Given the description of an element on the screen output the (x, y) to click on. 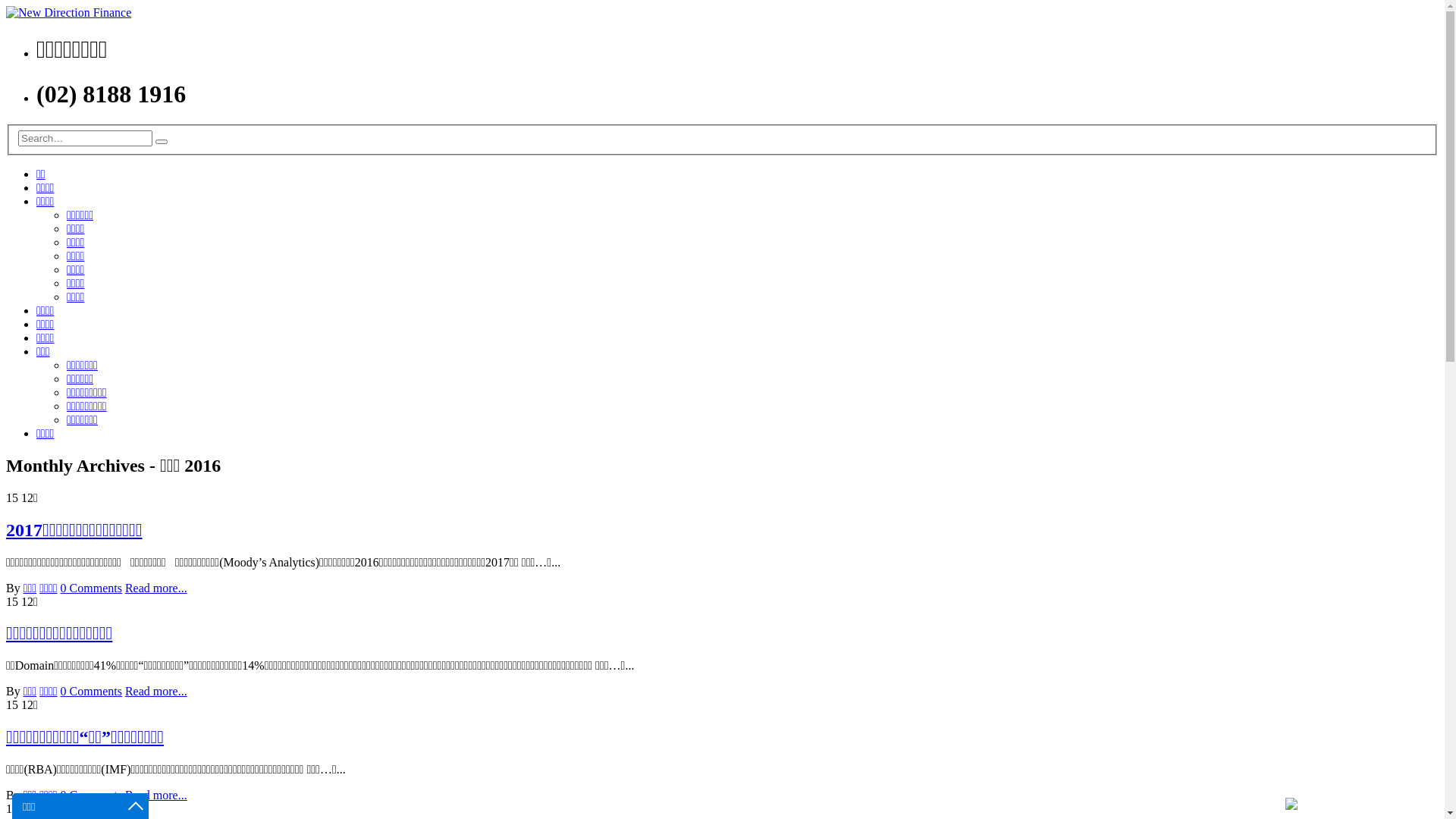
Read more... Element type: text (156, 587)
Search Element type: hover (161, 141)
Read more... Element type: text (156, 690)
Read more... Element type: text (156, 794)
0 Comments Element type: text (91, 690)
New Direction Finance - Best Broker in Sydney Element type: hover (68, 12)
0 Comments Element type: text (91, 587)
0 Comments Element type: text (91, 794)
